Given the description of an element on the screen output the (x, y) to click on. 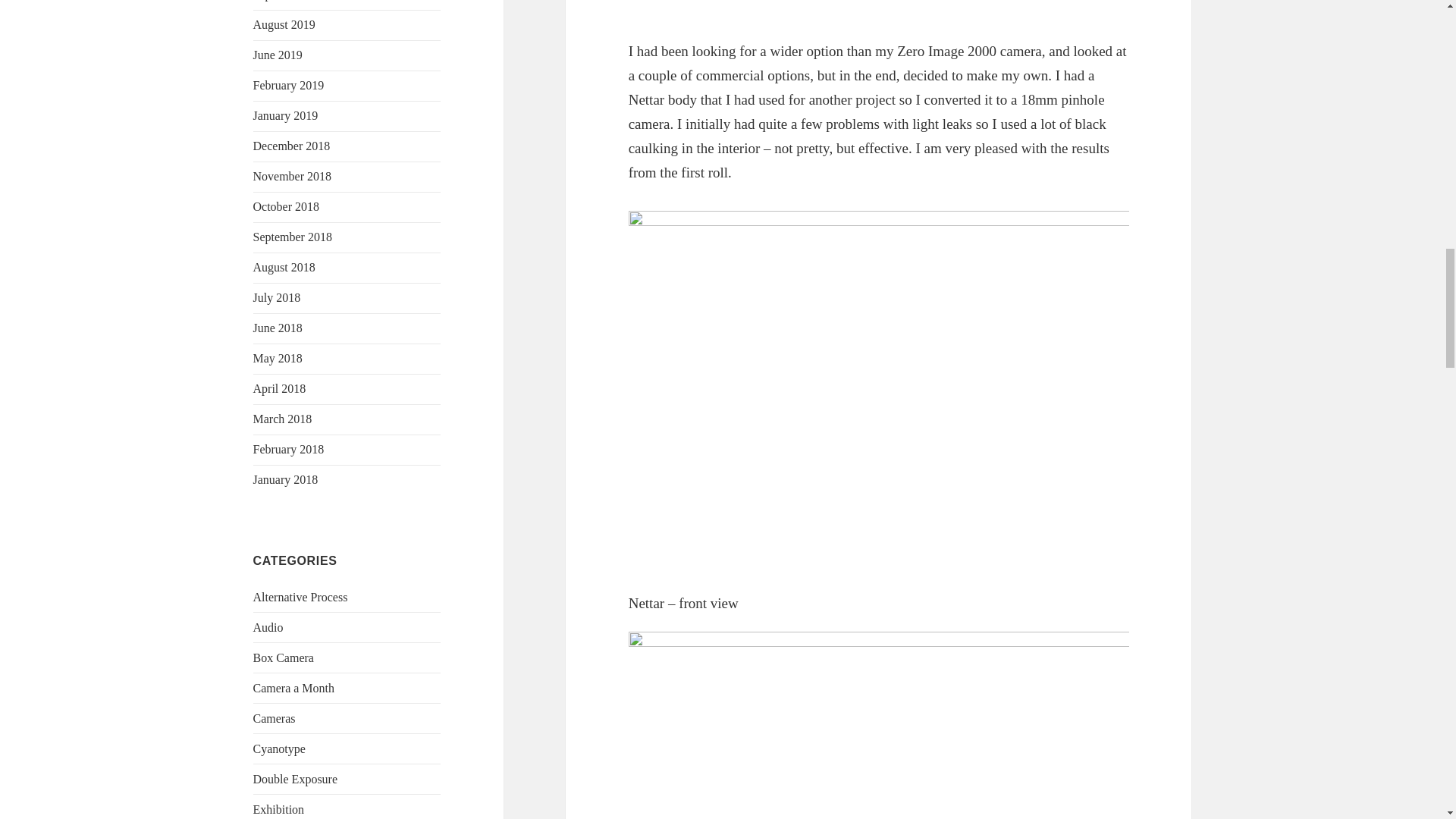
June 2019 (277, 54)
August 2019 (284, 24)
